Given the description of an element on the screen output the (x, y) to click on. 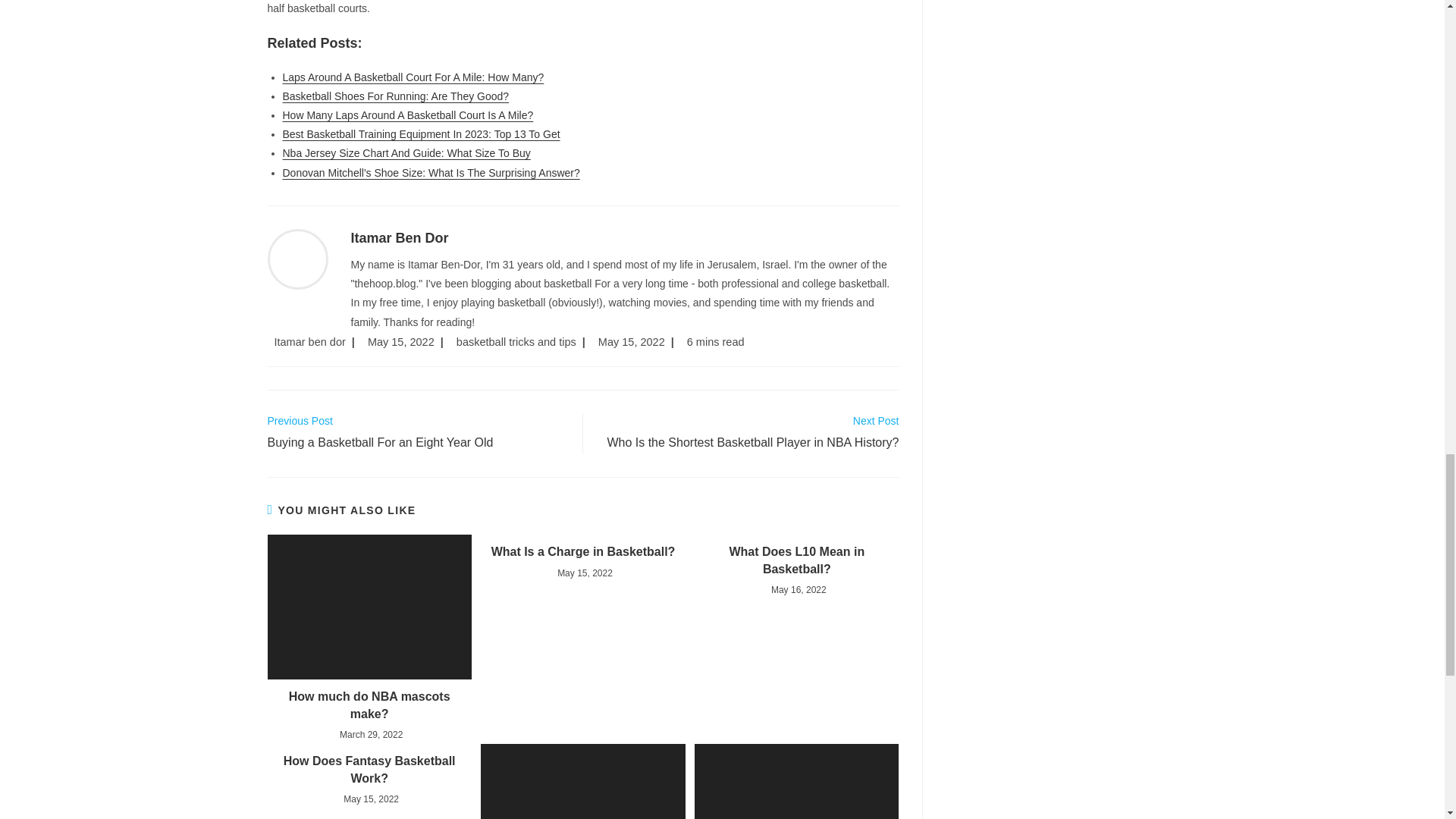
Laps Around A Basketball Court For A Mile: How Many? (412, 77)
How much do NBA mascots make? 1 (368, 606)
Donovan Mitchell's Shoe Size: What Is The Surprising Answer? (430, 173)
Where did basketball originate? How Basketball Was Born? 2 (582, 781)
Itamar Ben Dor (399, 237)
Posts by Itamar ben dor (310, 341)
How Many Laps Around A Basketball Court Is A Mile? (407, 114)
Best Basketball Training Equipment In 2023: Top 13 To Get (420, 133)
Visit author page (296, 258)
Basketball Shoes For Running: Are They Good? (395, 96)
